Given the description of an element on the screen output the (x, y) to click on. 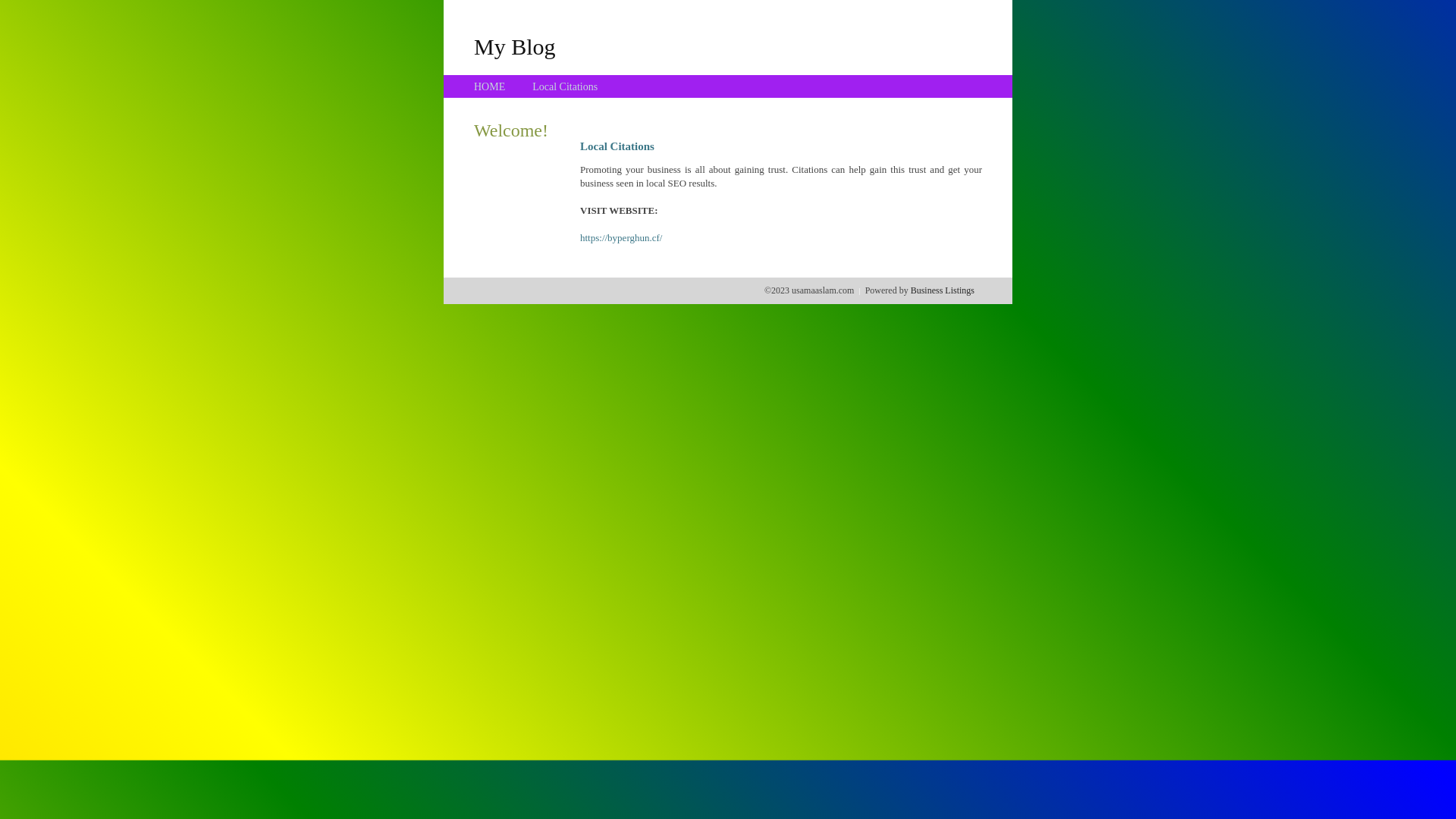
HOME Element type: text (489, 86)
https://byperghun.cf/ Element type: text (621, 237)
Local Citations Element type: text (564, 86)
My Blog Element type: text (514, 46)
Business Listings Element type: text (942, 290)
